Given the description of an element on the screen output the (x, y) to click on. 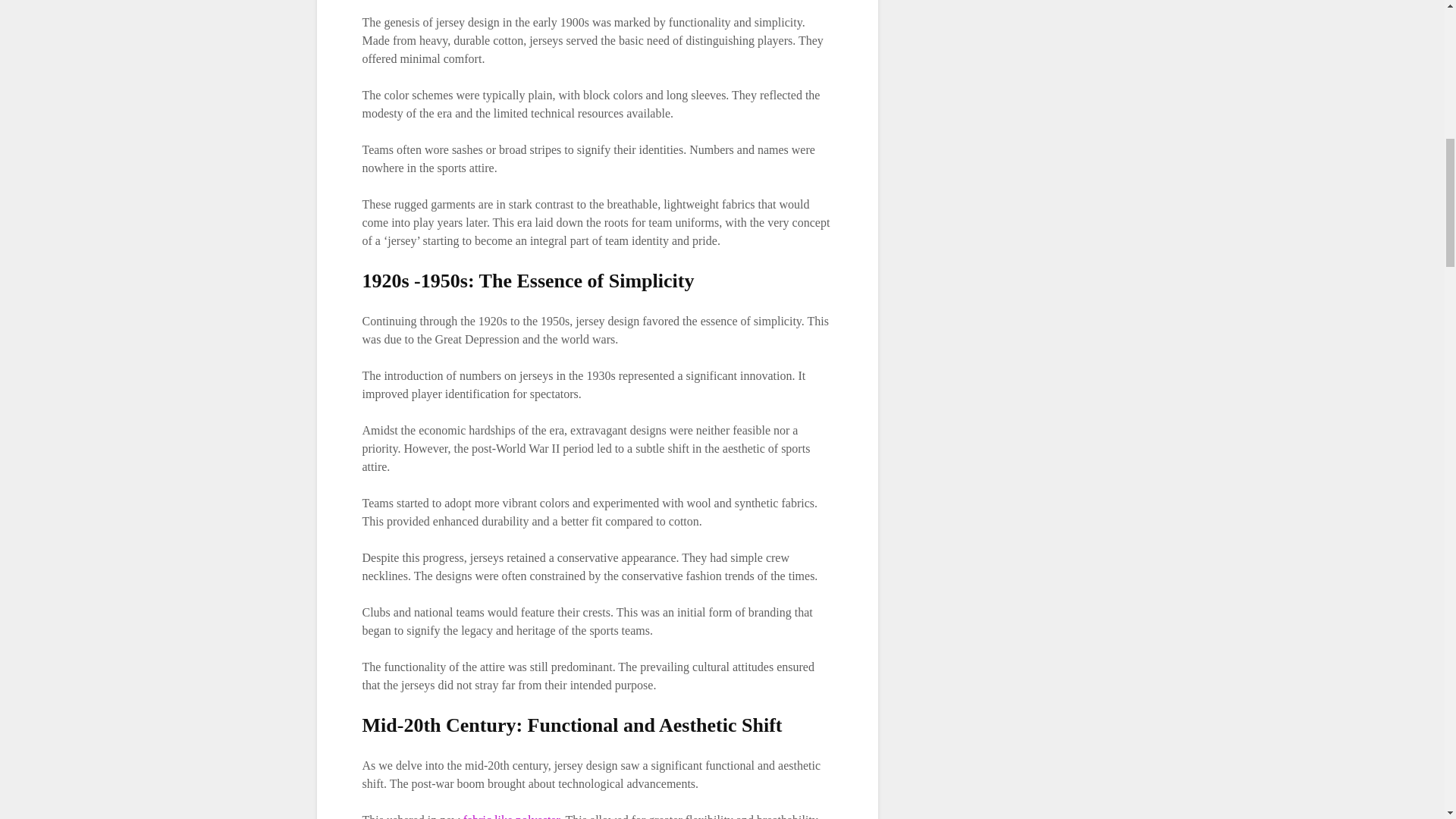
fabric like polyester (511, 816)
